Given the description of an element on the screen output the (x, y) to click on. 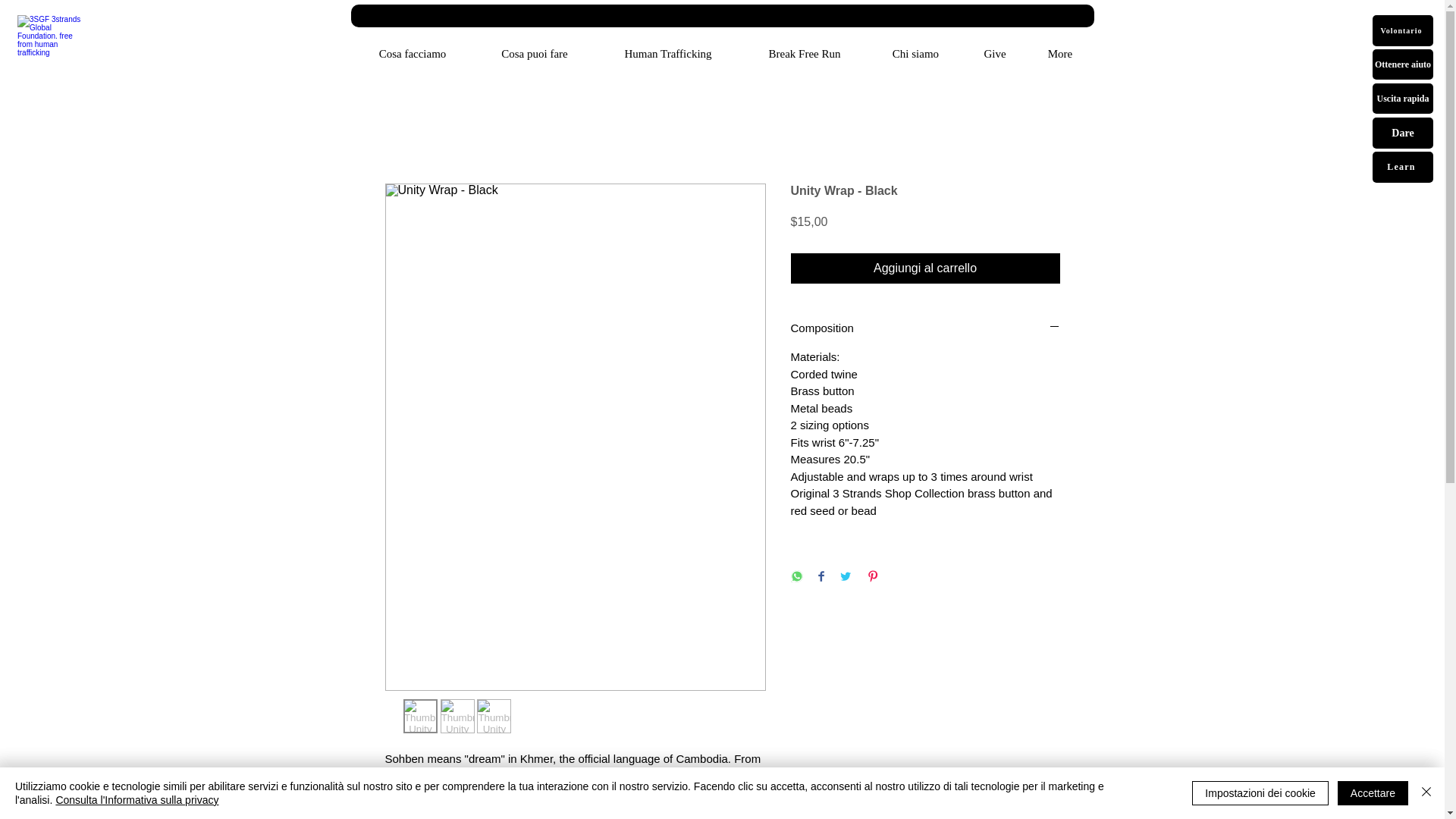
Volontario (1402, 30)
Dare (1402, 132)
Cosa puoi fare (534, 53)
Uscita rapida (1402, 98)
Composition (924, 327)
Give (994, 53)
Ottenere aiuto (1402, 64)
Aggiungi al carrello (924, 268)
Break Free Run (804, 53)
Learn (1402, 166)
Chi siamo (914, 53)
